Given the description of an element on the screen output the (x, y) to click on. 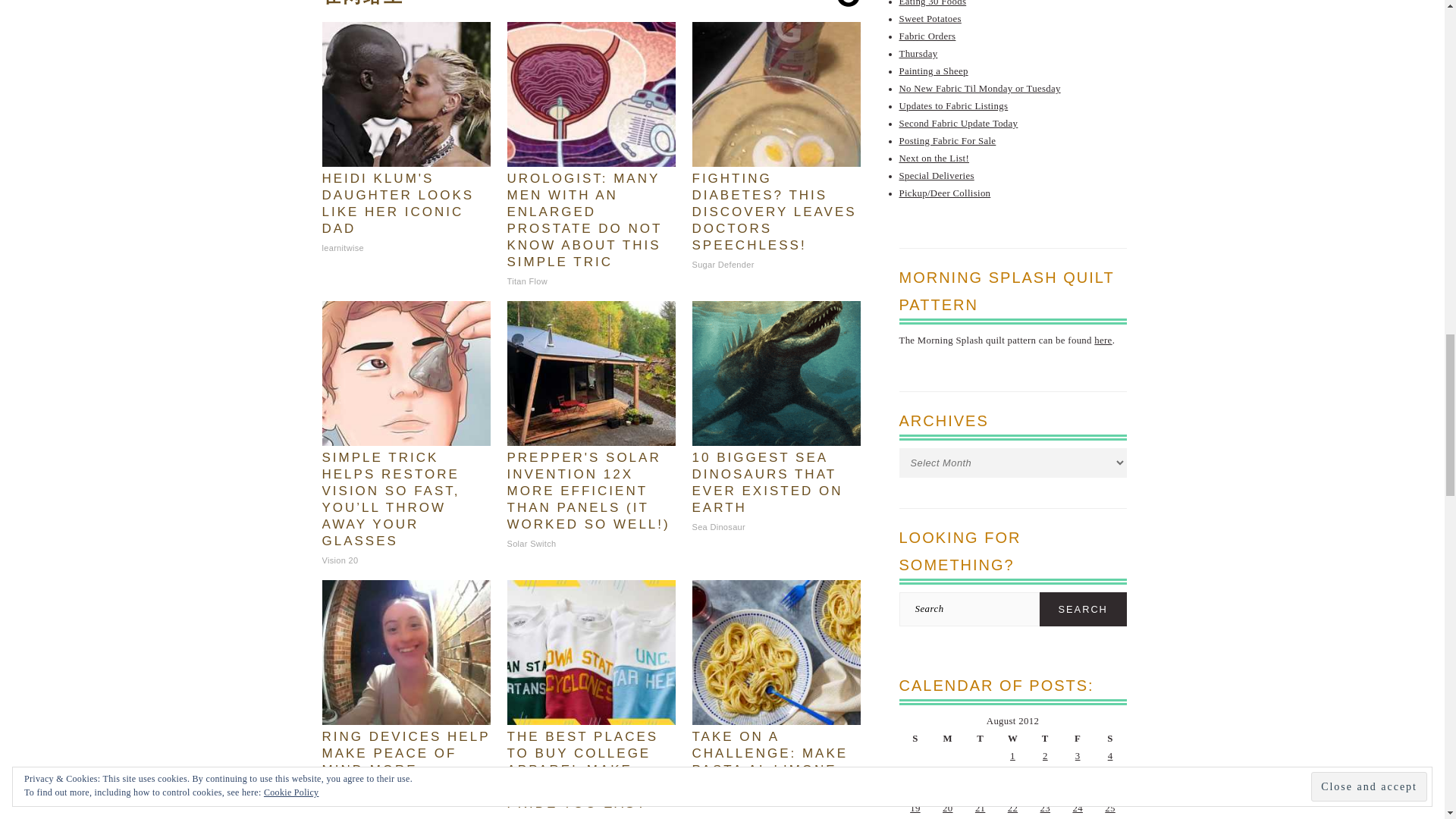
Search (1082, 609)
Search (1082, 609)
Sunday (915, 738)
